Given the description of an element on the screen output the (x, y) to click on. 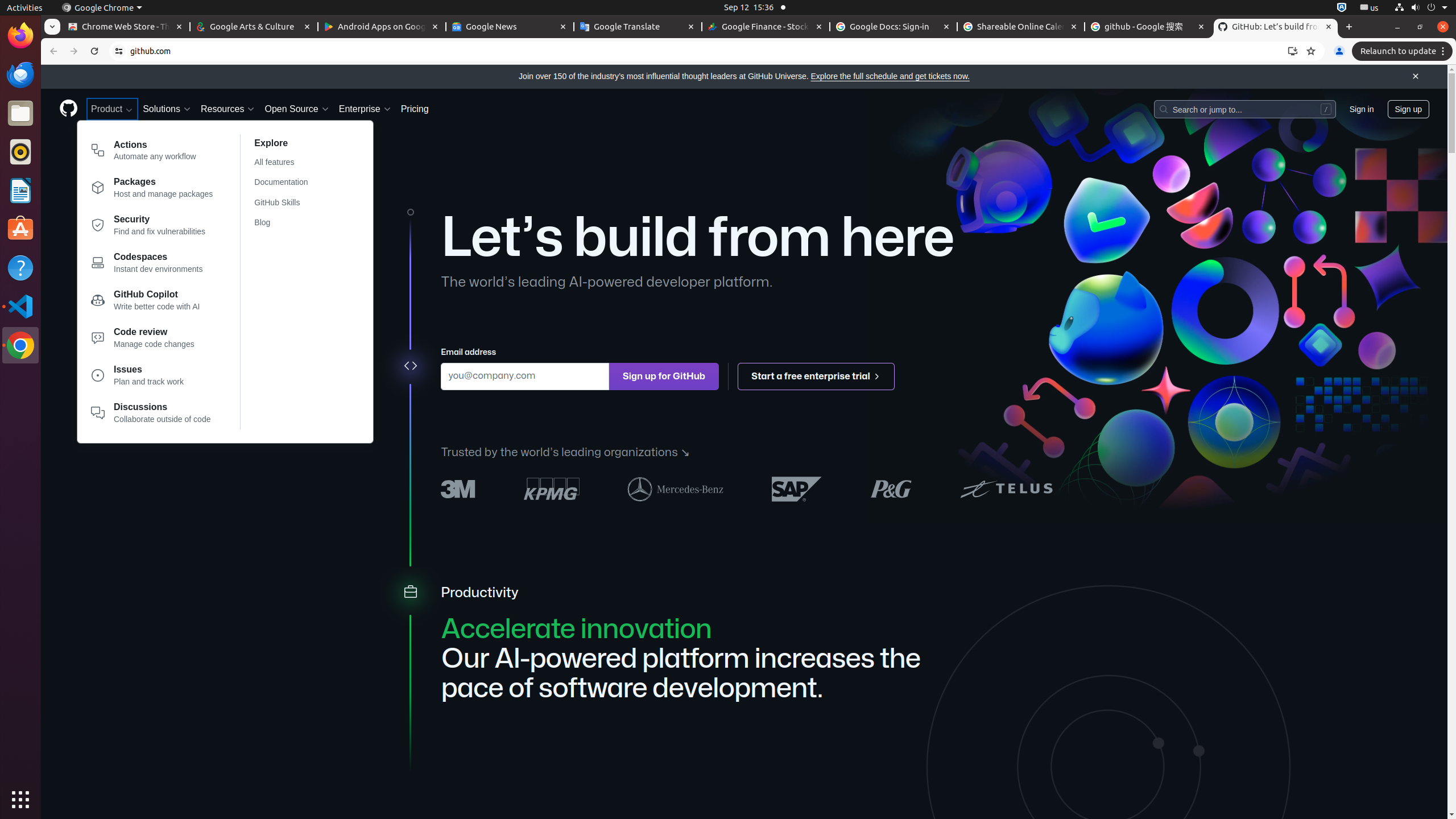
You Element type: push-button (1339, 50)
Packages Host and manage packages Element type: link (152, 190)
Pricing Element type: link (414, 108)
Android Apps on Google Play - Memory usage - 52.4 MB Element type: page-tab (381, 26)
Bookmark this tab Element type: push-button (1310, 51)
